Given the description of an element on the screen output the (x, y) to click on. 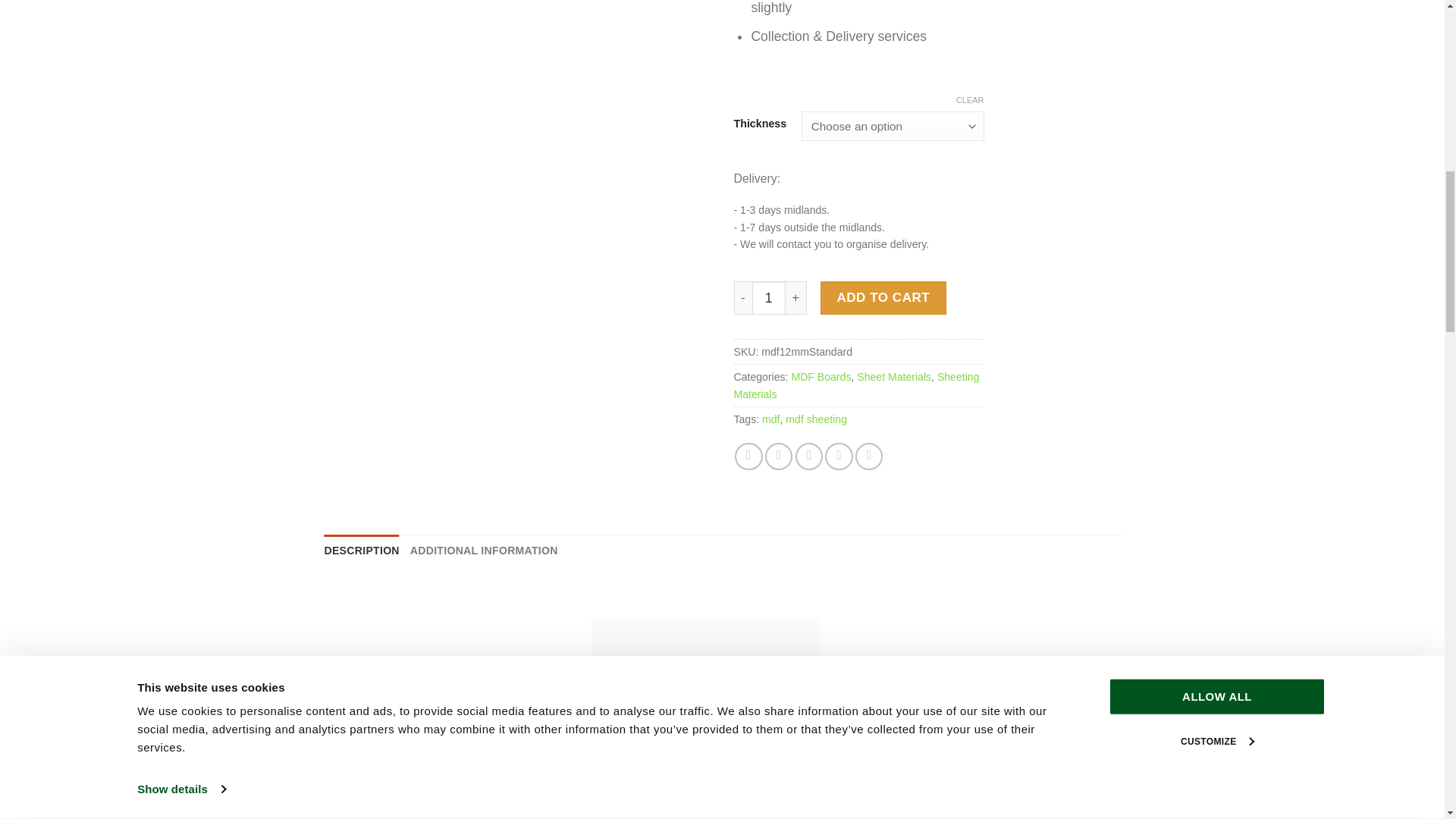
1 (769, 297)
